Given the description of an element on the screen output the (x, y) to click on. 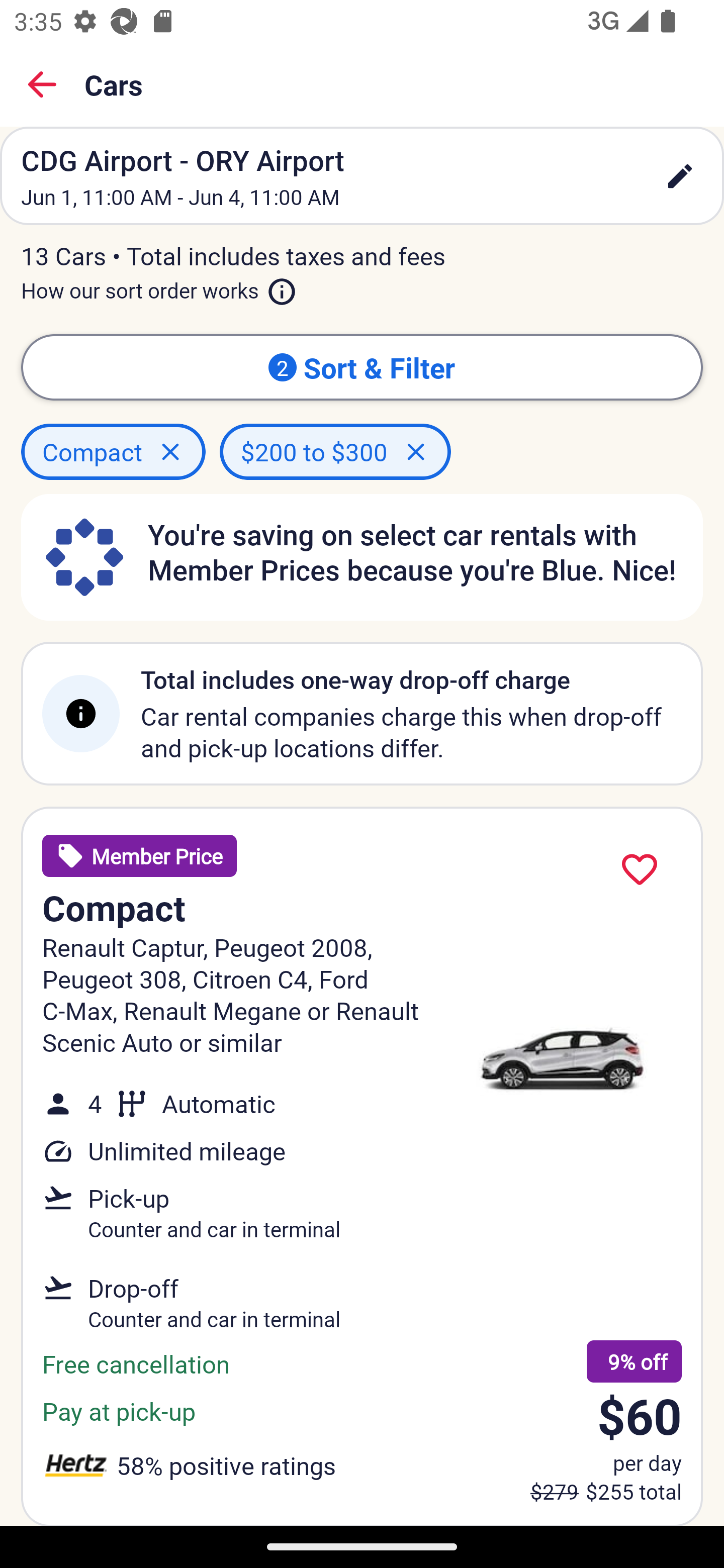
Back (42, 84)
edit (679, 175)
2 Sort & Filter (361, 366)
